Given the description of an element on the screen output the (x, y) to click on. 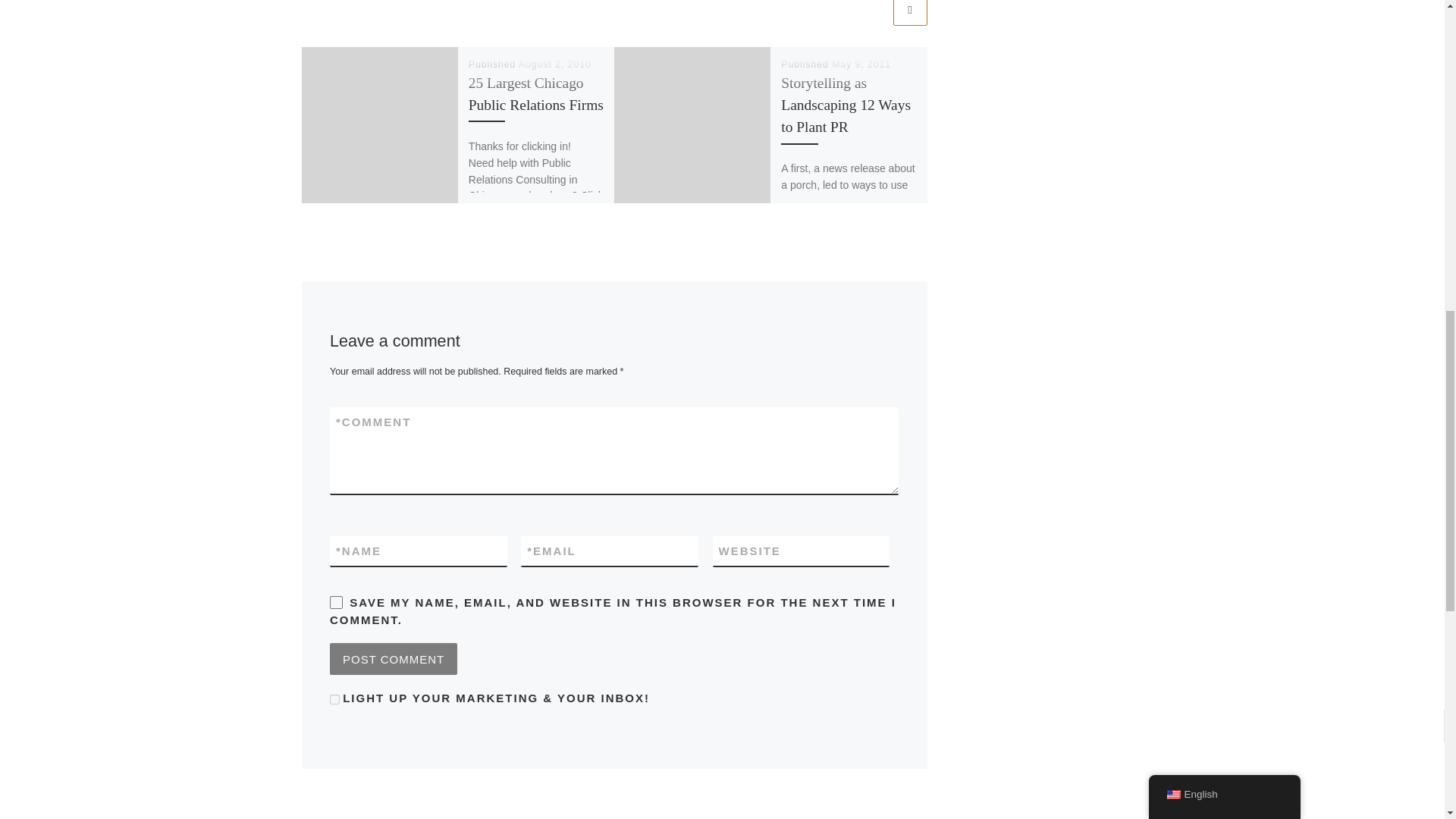
yes (336, 602)
Post Comment (393, 658)
1 (334, 699)
Previous related articles (872, 12)
